Given the description of an element on the screen output the (x, y) to click on. 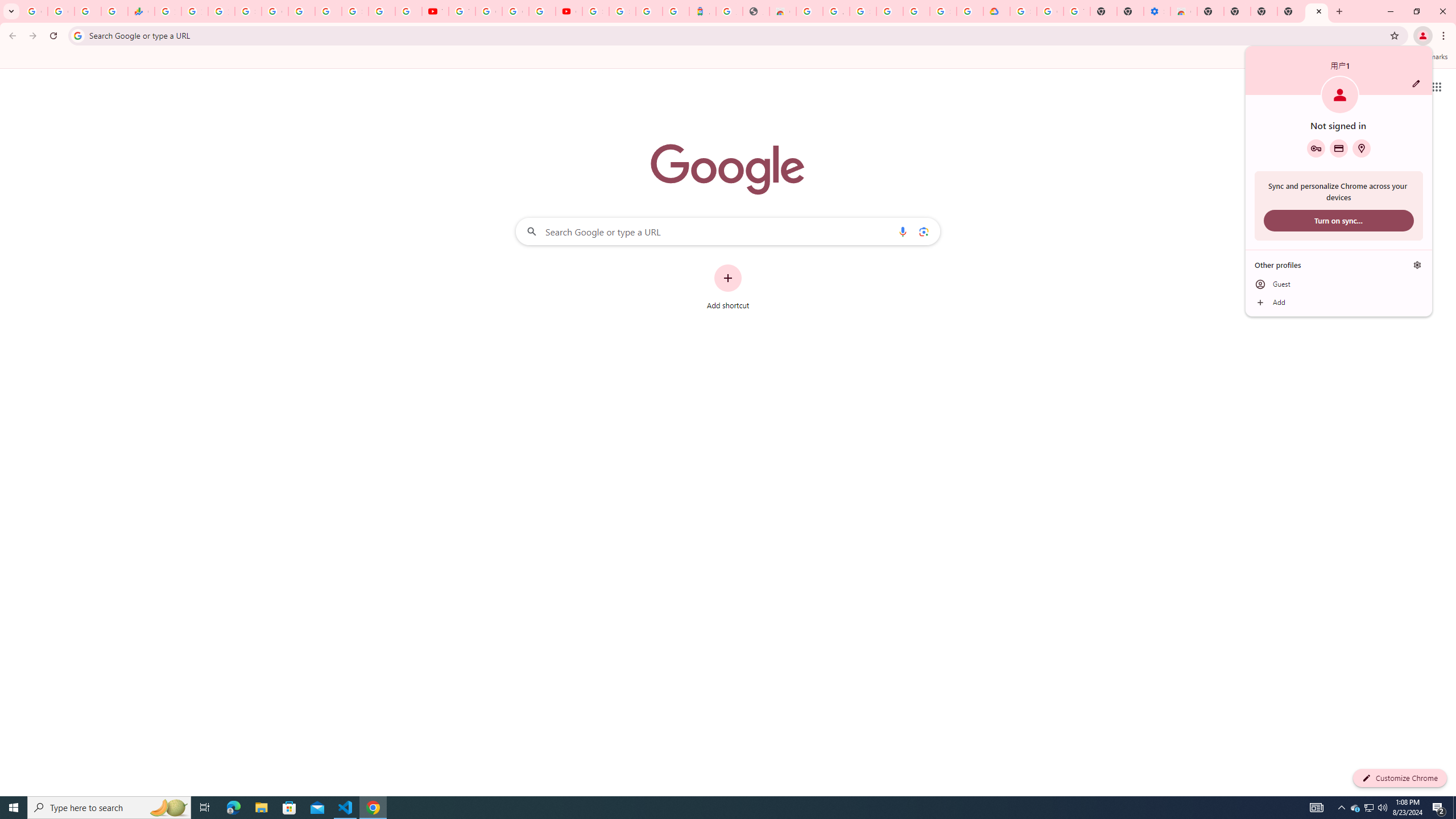
Sign in - Google Accounts (622, 11)
